Given the description of an element on the screen output the (x, y) to click on. 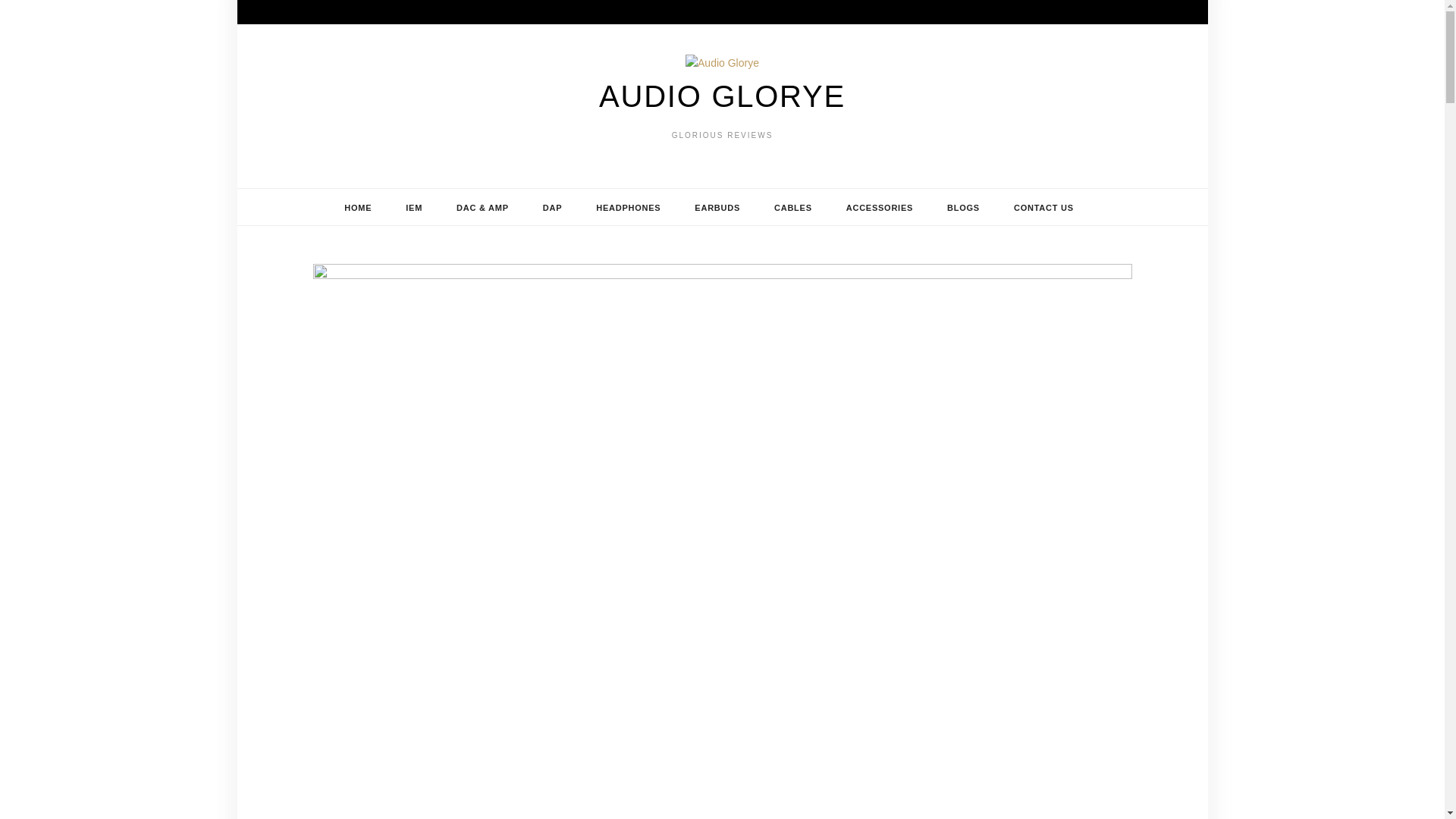
ACCESSORIES (880, 207)
AUDIO GLORYE (721, 96)
BLOGS (963, 207)
HEADPHONES (627, 207)
EARBUDS (717, 207)
HOME (357, 207)
CONTACT US (1043, 207)
CABLES (792, 207)
